Given the description of an element on the screen output the (x, y) to click on. 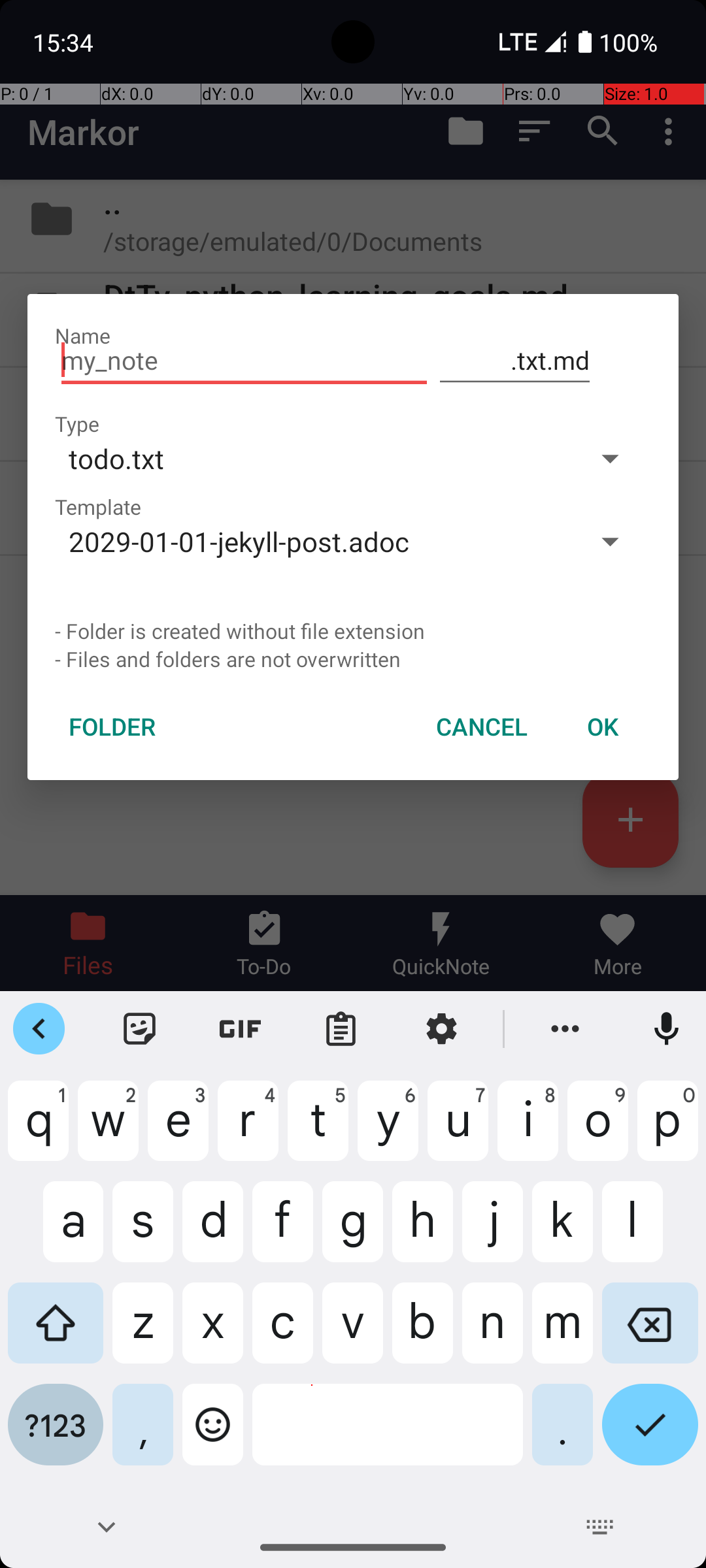
.txt.md Element type: android.widget.EditText (514, 360)
2029-01-01-jekyll-post.adoc Element type: android.widget.TextView (311, 540)
